Given the description of an element on the screen output the (x, y) to click on. 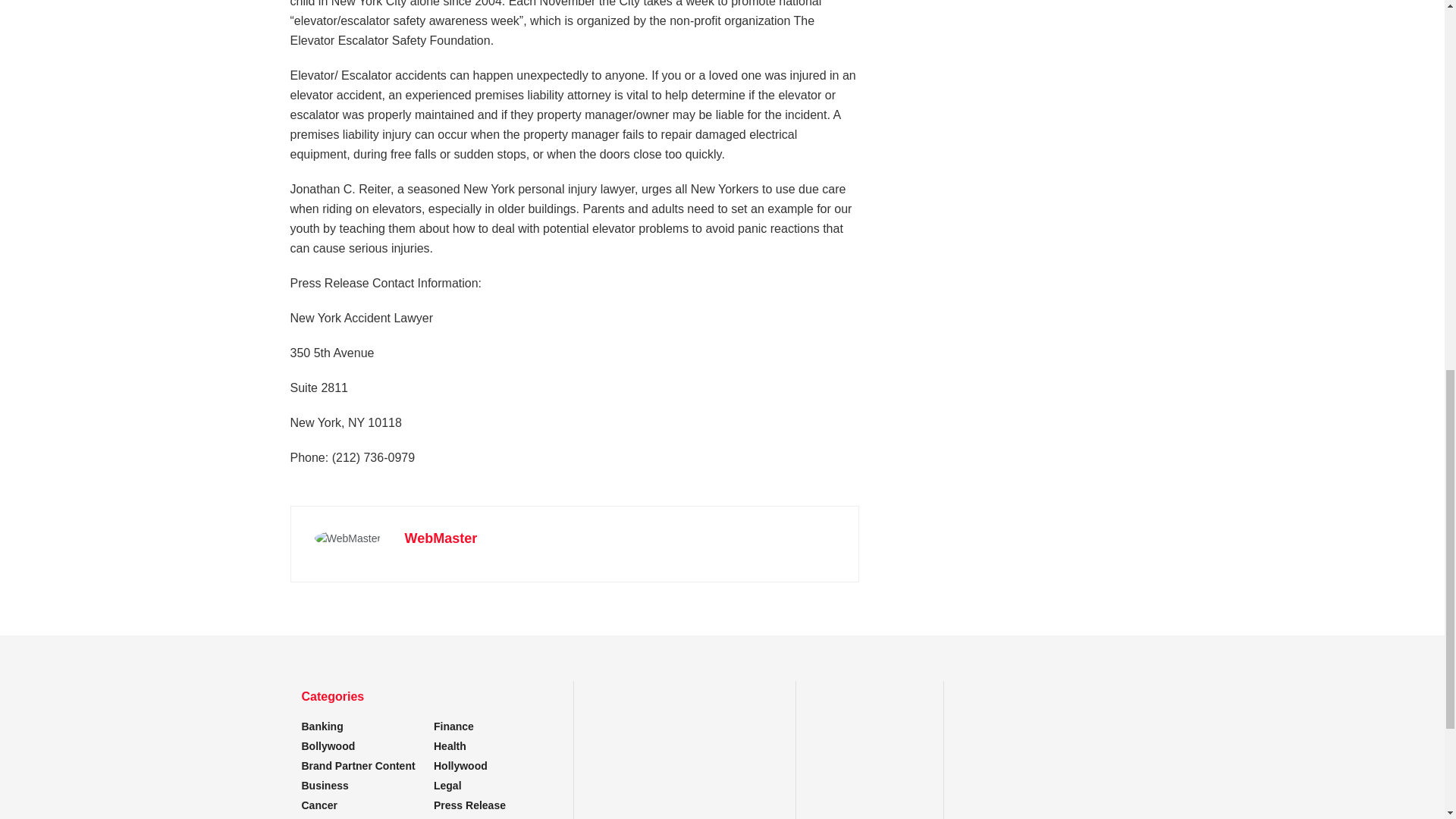
Bollywood (328, 746)
Banking (322, 726)
WebMaster (440, 538)
